Given the description of an element on the screen output the (x, y) to click on. 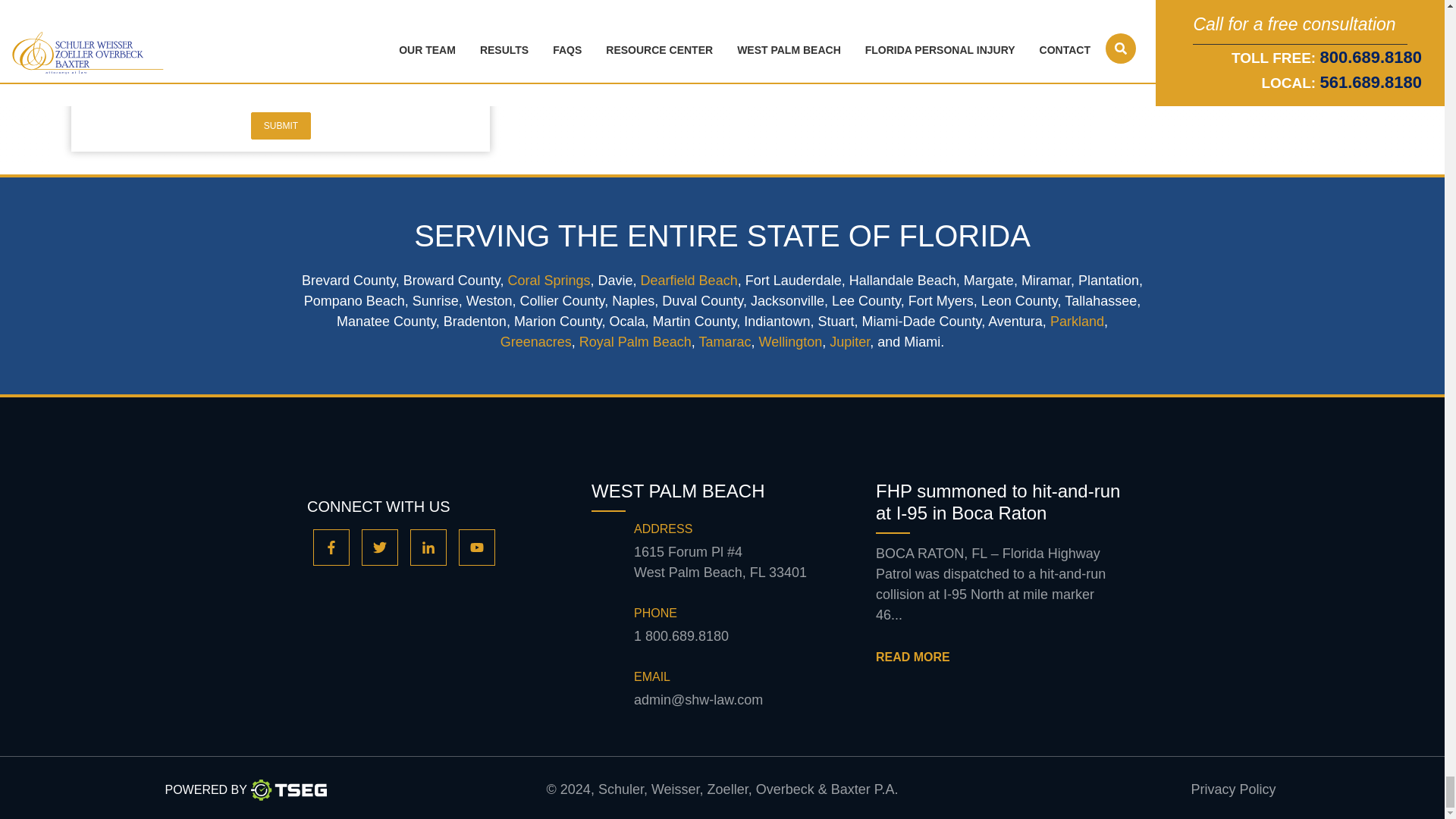
Phone No. (681, 636)
Facebook (331, 547)
youtube (476, 547)
Linkedin (428, 547)
Twitter (379, 547)
Submit (280, 125)
